Given the description of an element on the screen output the (x, y) to click on. 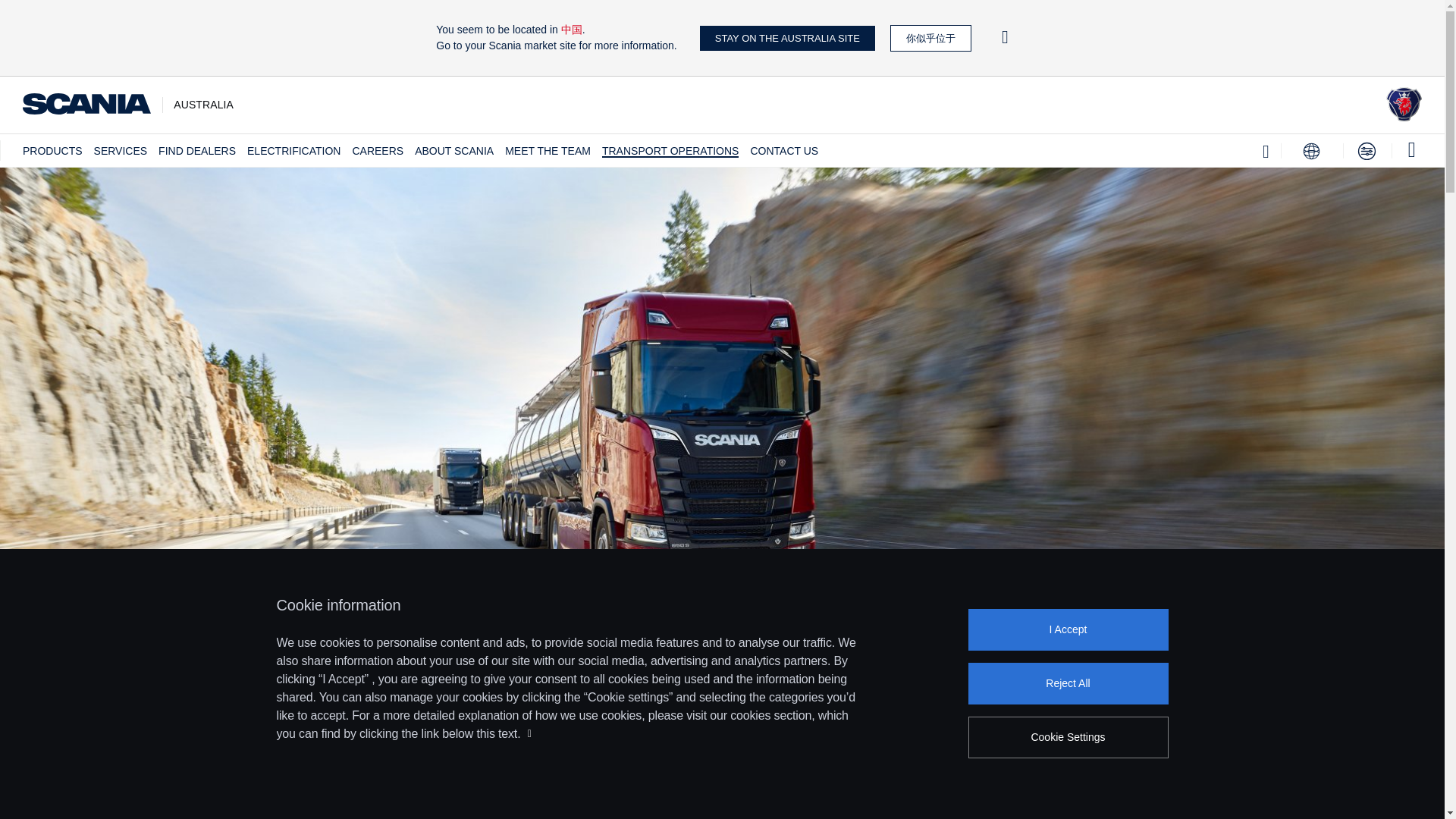
Petroleum and chemicals (722, 759)
Scania (87, 104)
Country selector (1312, 150)
Configurator (1367, 150)
PRODUCTS (52, 150)
Scania (1404, 117)
STAY ON THE AUSTRALIA SITE (787, 37)
